Given the description of an element on the screen output the (x, y) to click on. 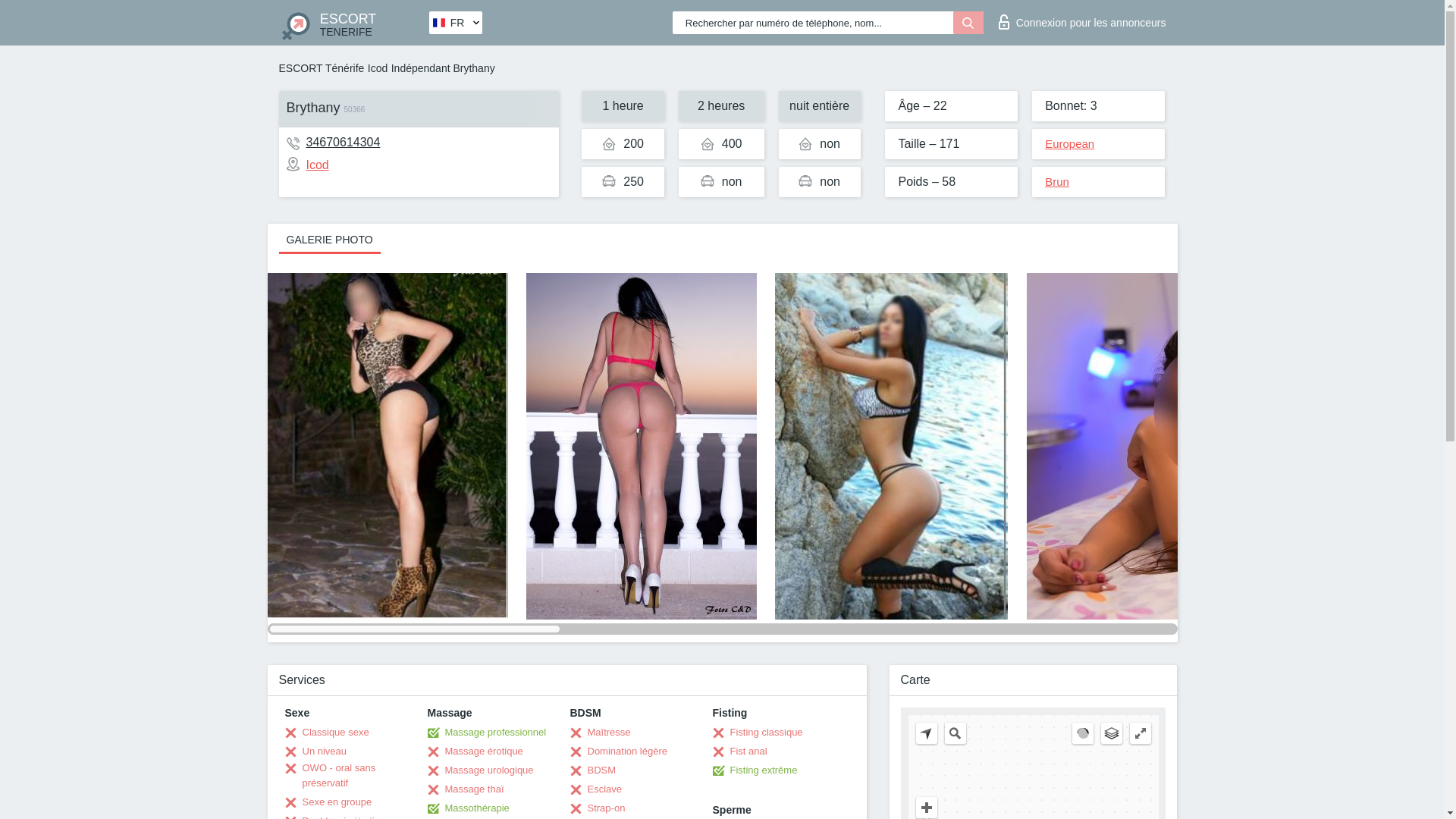
Icod (377, 68)
34670614304 (342, 141)
Classique sexe (327, 732)
GALERIE PHOTO (329, 238)
Un niveau (316, 751)
Brun (1056, 181)
European (1069, 143)
Connexion pour les annonceurs (1082, 17)
Sexe en groupe (328, 801)
Icod (307, 164)
Search (955, 732)
Detect your current location (926, 732)
